Given the description of an element on the screen output the (x, y) to click on. 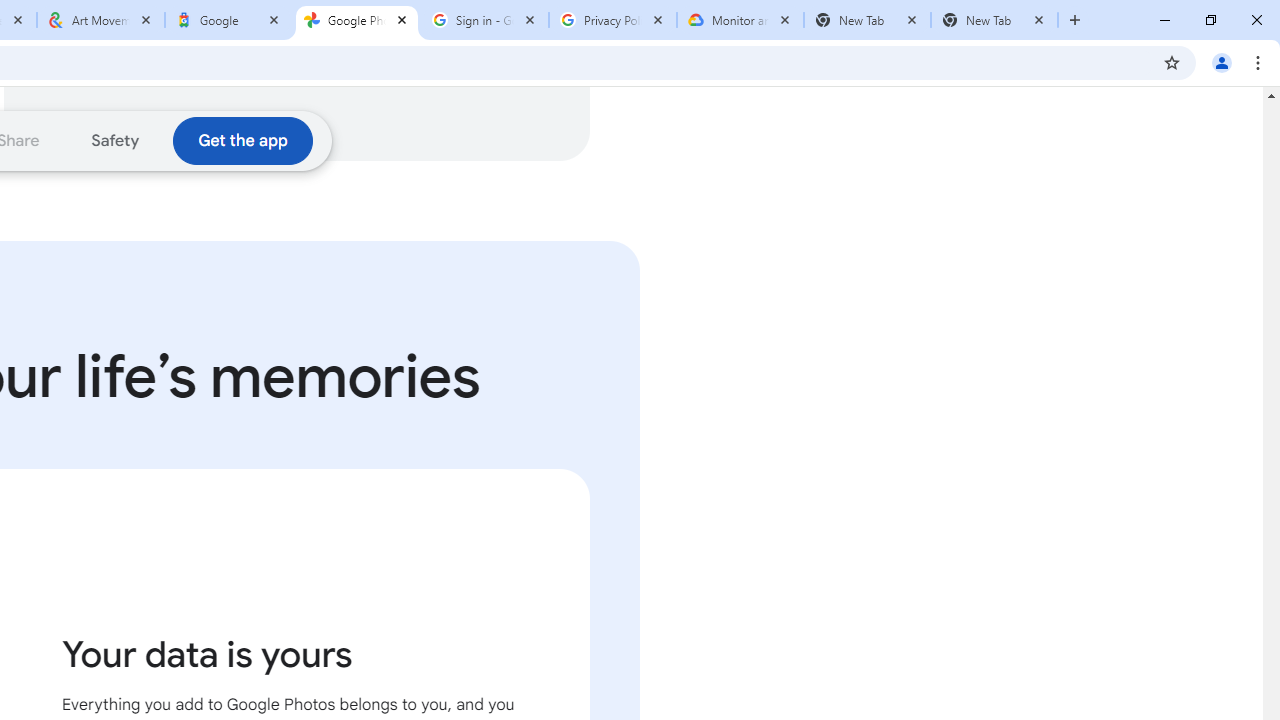
New Tab (994, 20)
Sign in - Google Accounts (485, 20)
New Tab (866, 20)
Google (229, 20)
Download the Google Photos app (242, 140)
